Given the description of an element on the screen output the (x, y) to click on. 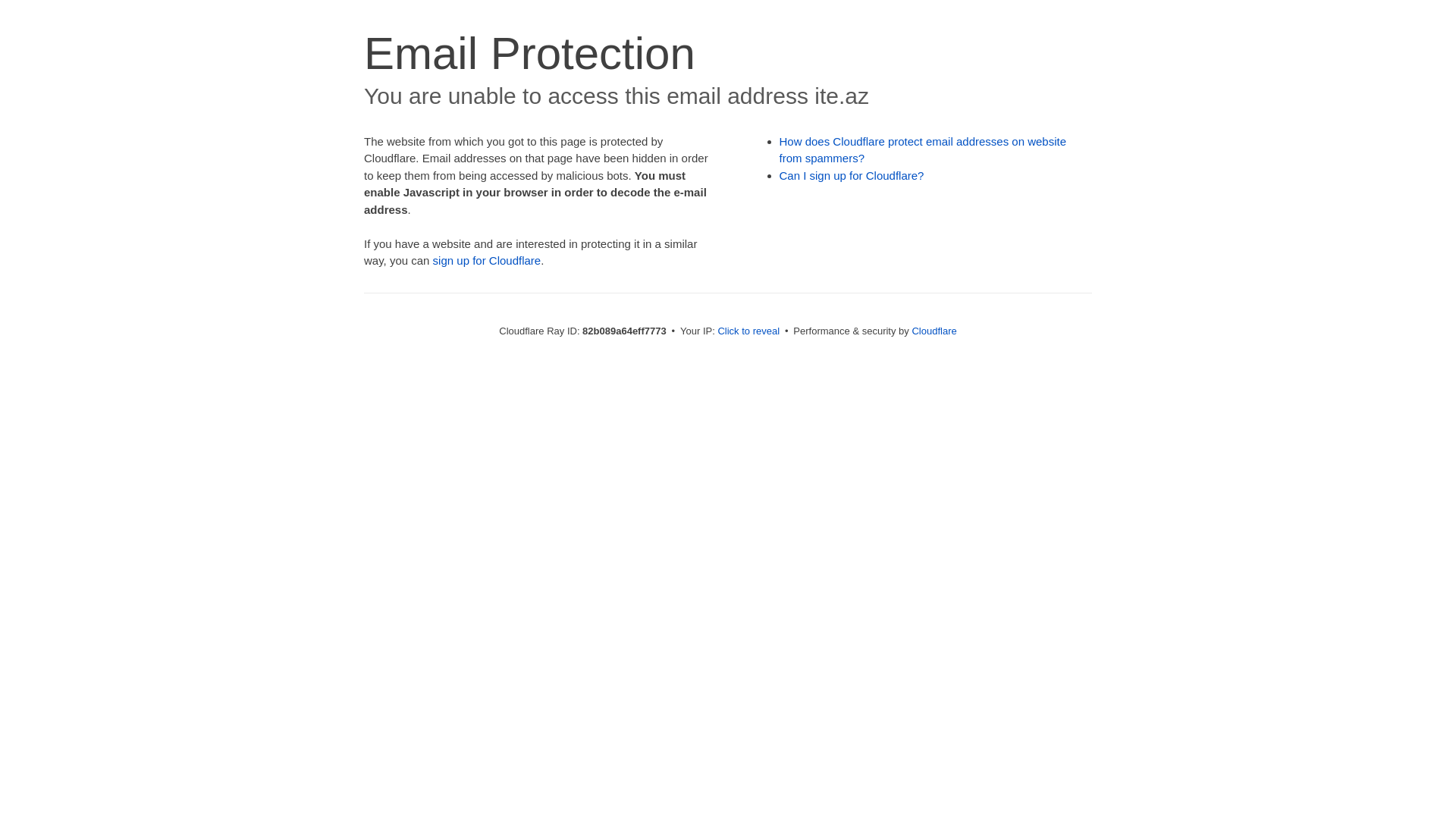
Can I sign up for Cloudflare? Element type: text (851, 175)
sign up for Cloudflare Element type: text (487, 260)
Click to reveal Element type: text (748, 330)
Cloudflare Element type: text (933, 330)
